Given the description of an element on the screen output the (x, y) to click on. 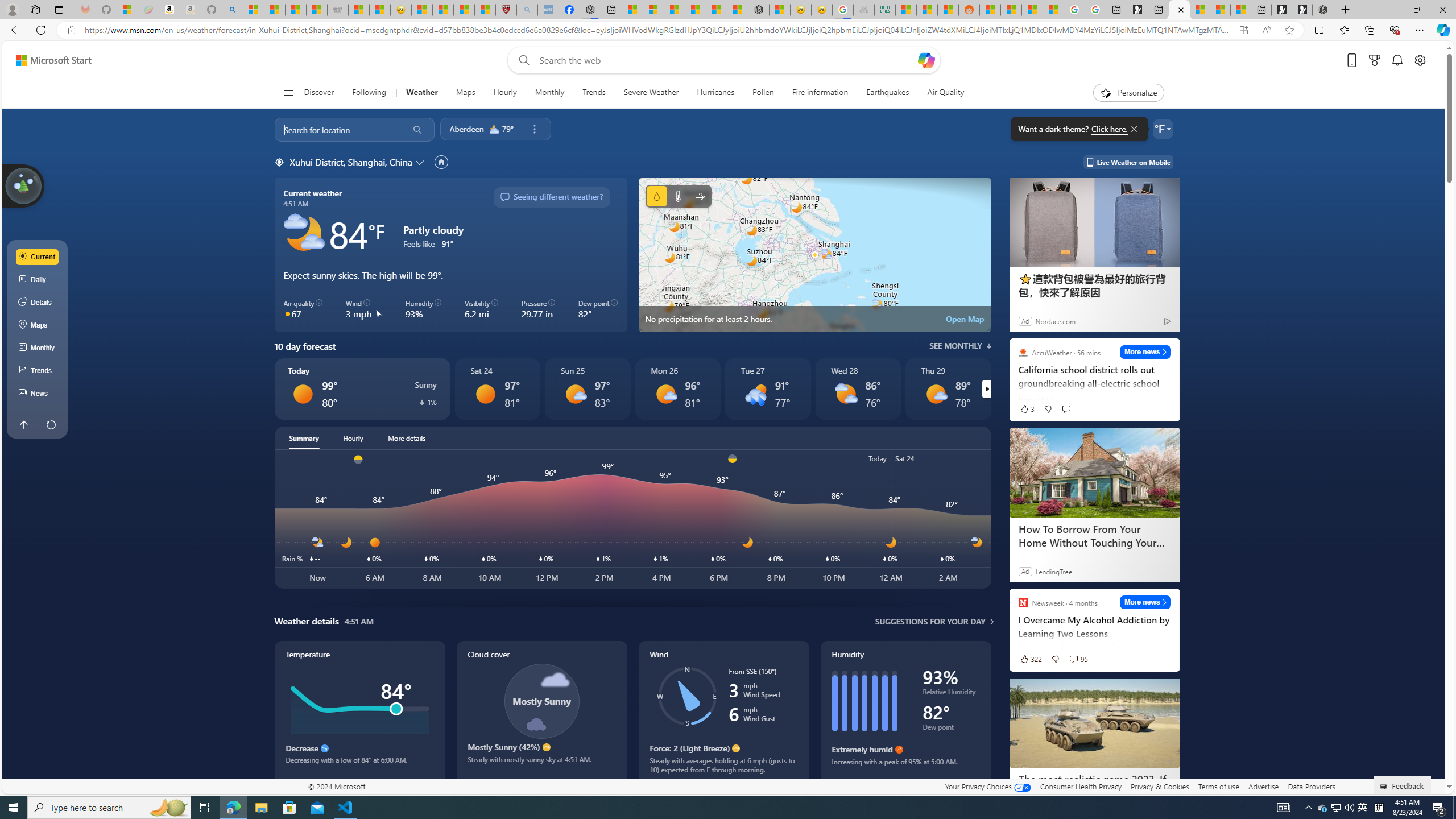
R******* | Trusted Community Engagement and Contributions (990, 9)
Trends (593, 92)
Seeing different weather? (551, 196)
Open Map (965, 318)
LendingTree (1053, 570)
Consumer Health Privacy (1080, 785)
Temperature (678, 195)
Monthly (549, 92)
Set as primary location (440, 161)
Refresh this page (50, 424)
Privacy & Cookies (1160, 786)
Stocks - MSN (316, 9)
